Given the description of an element on the screen output the (x, y) to click on. 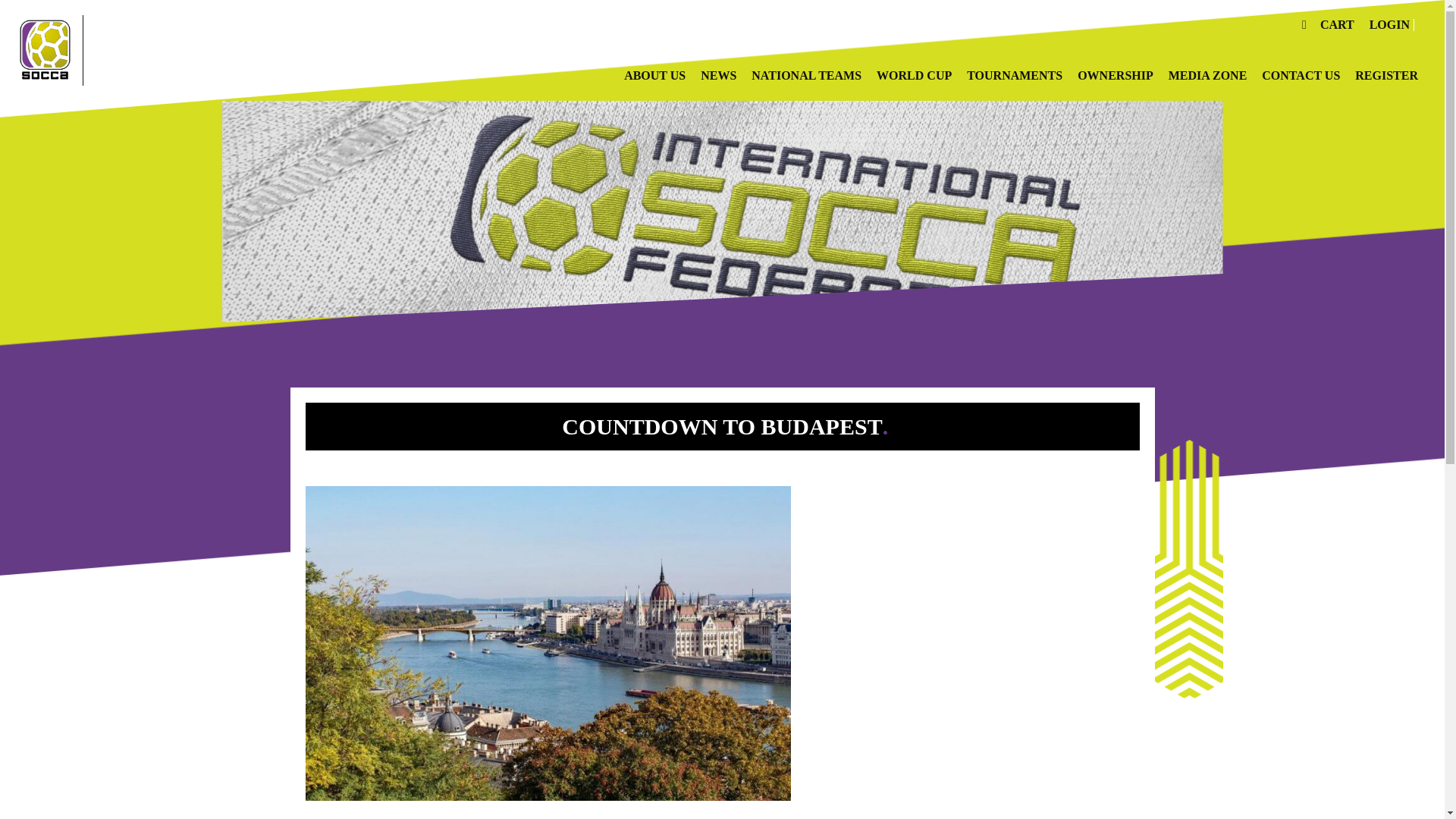
NATIONAL TEAMS (806, 75)
WORLD CUP (914, 75)
CONTACT US (1300, 75)
REGISTER (1386, 75)
CART (1337, 24)
NEWS (718, 75)
TOURNAMENTS (1014, 75)
ABOUT US (654, 75)
LOGIN (1391, 24)
OWNERSHIP (1115, 75)
MEDIA ZONE (1208, 75)
